Given the description of an element on the screen output the (x, y) to click on. 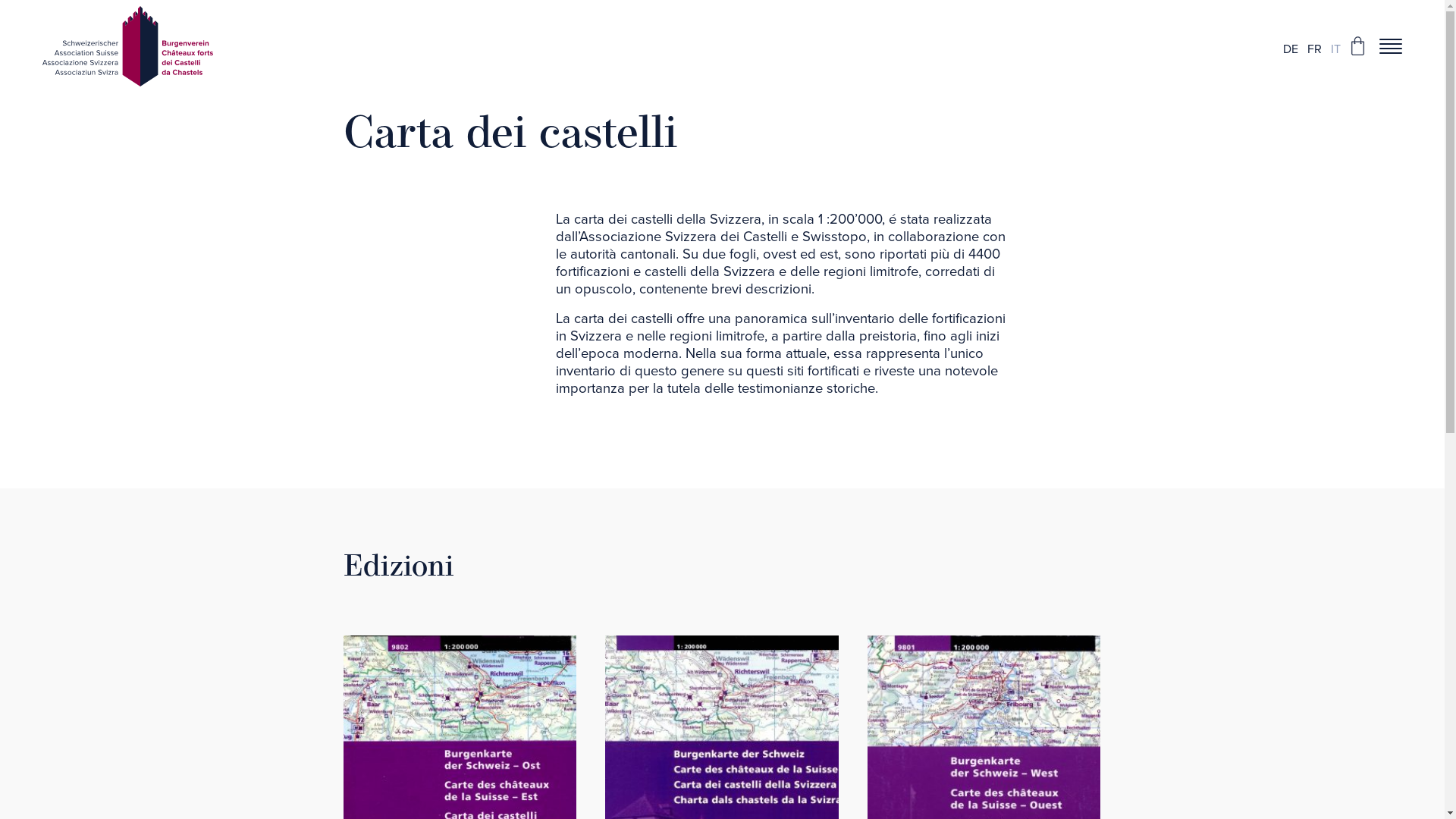
IT Element type: text (1335, 45)
FR Element type: text (1314, 45)
DE Element type: text (1290, 45)
